Given the description of an element on the screen output the (x, y) to click on. 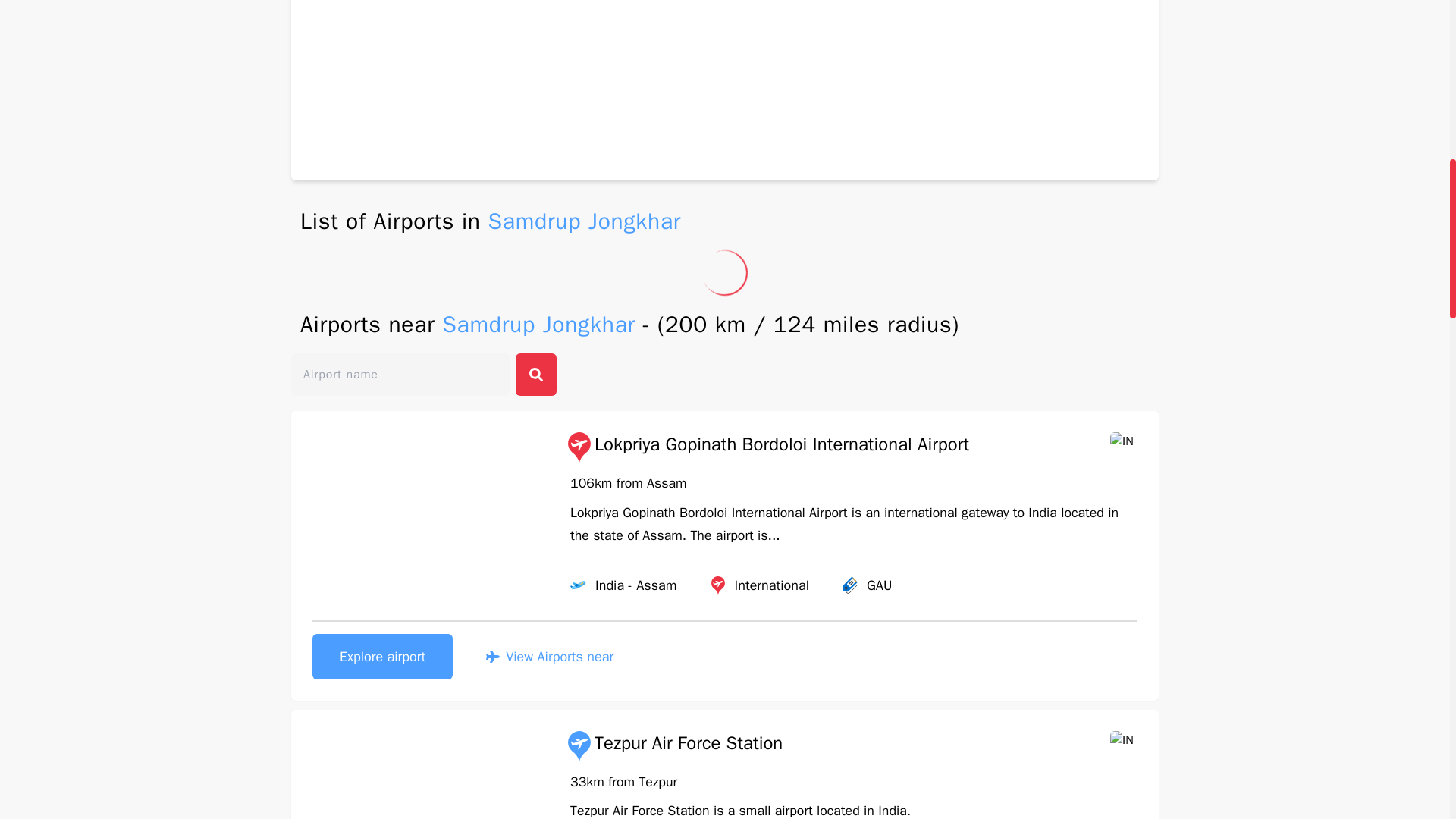
Lokpriya Gopinath Bordoloi International Airport (766, 447)
View Airports near (549, 656)
Explore airport (382, 656)
Tezpur Air Force Station (673, 746)
